Given the description of an element on the screen output the (x, y) to click on. 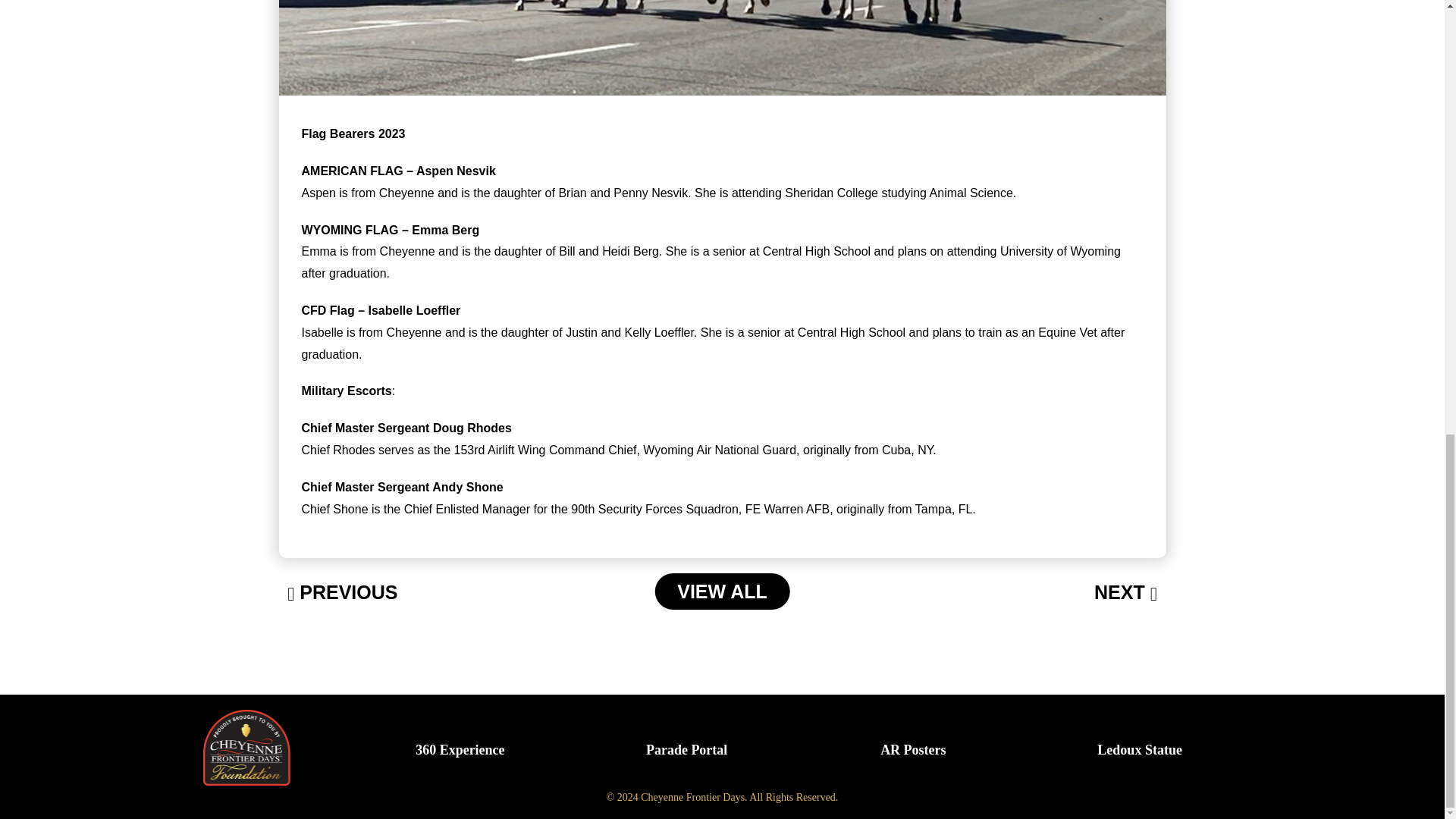
NEXT (1125, 593)
VIEW ALL (721, 591)
Ledoux Statue (1139, 749)
Parade Portal (686, 749)
AR Posters (912, 749)
PREVIOUS (341, 593)
360 Experience (458, 749)
